Given the description of an element on the screen output the (x, y) to click on. 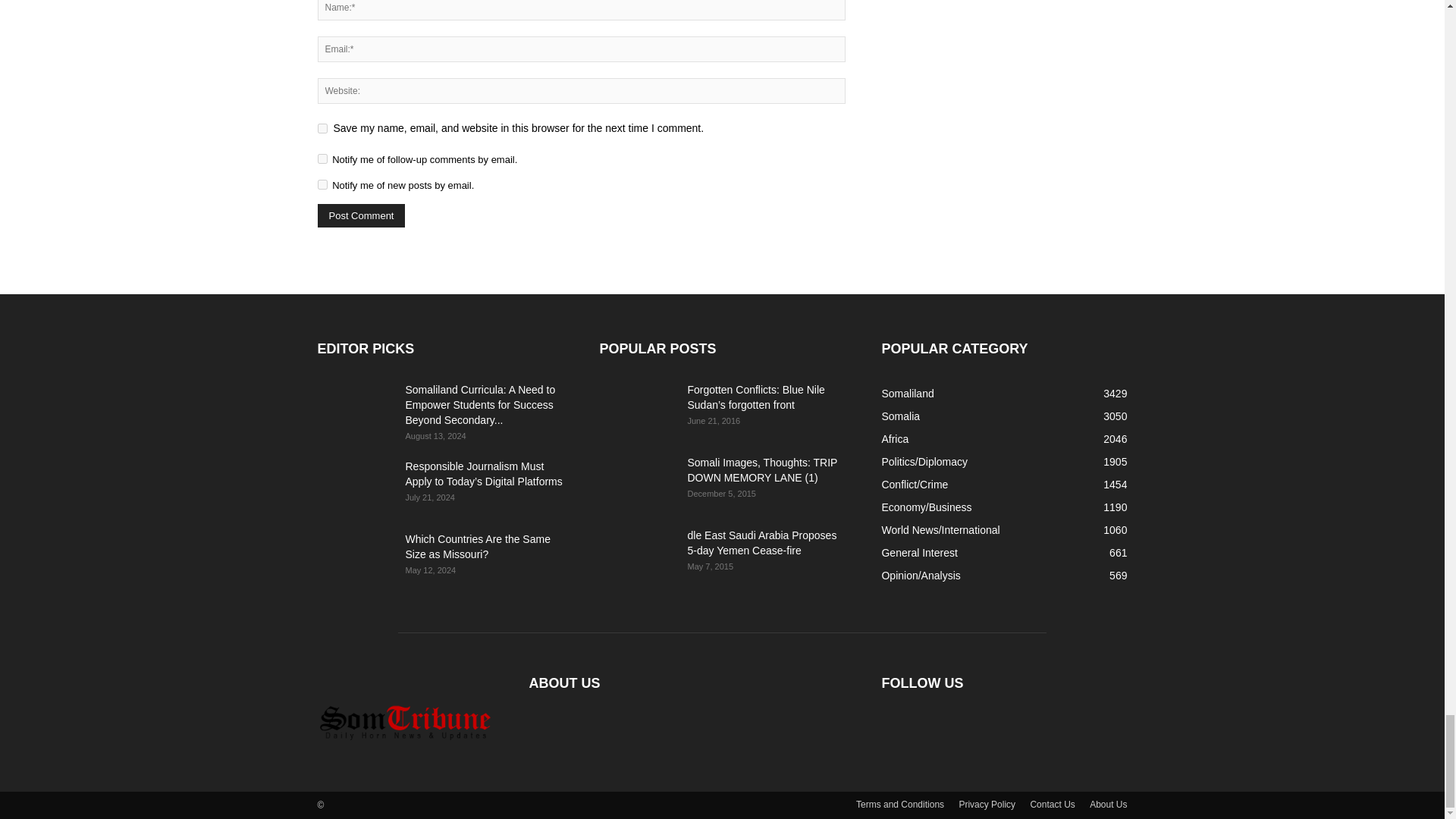
Post Comment (360, 215)
subscribe (321, 184)
subscribe (321, 158)
yes (321, 128)
